Given the description of an element on the screen output the (x, y) to click on. 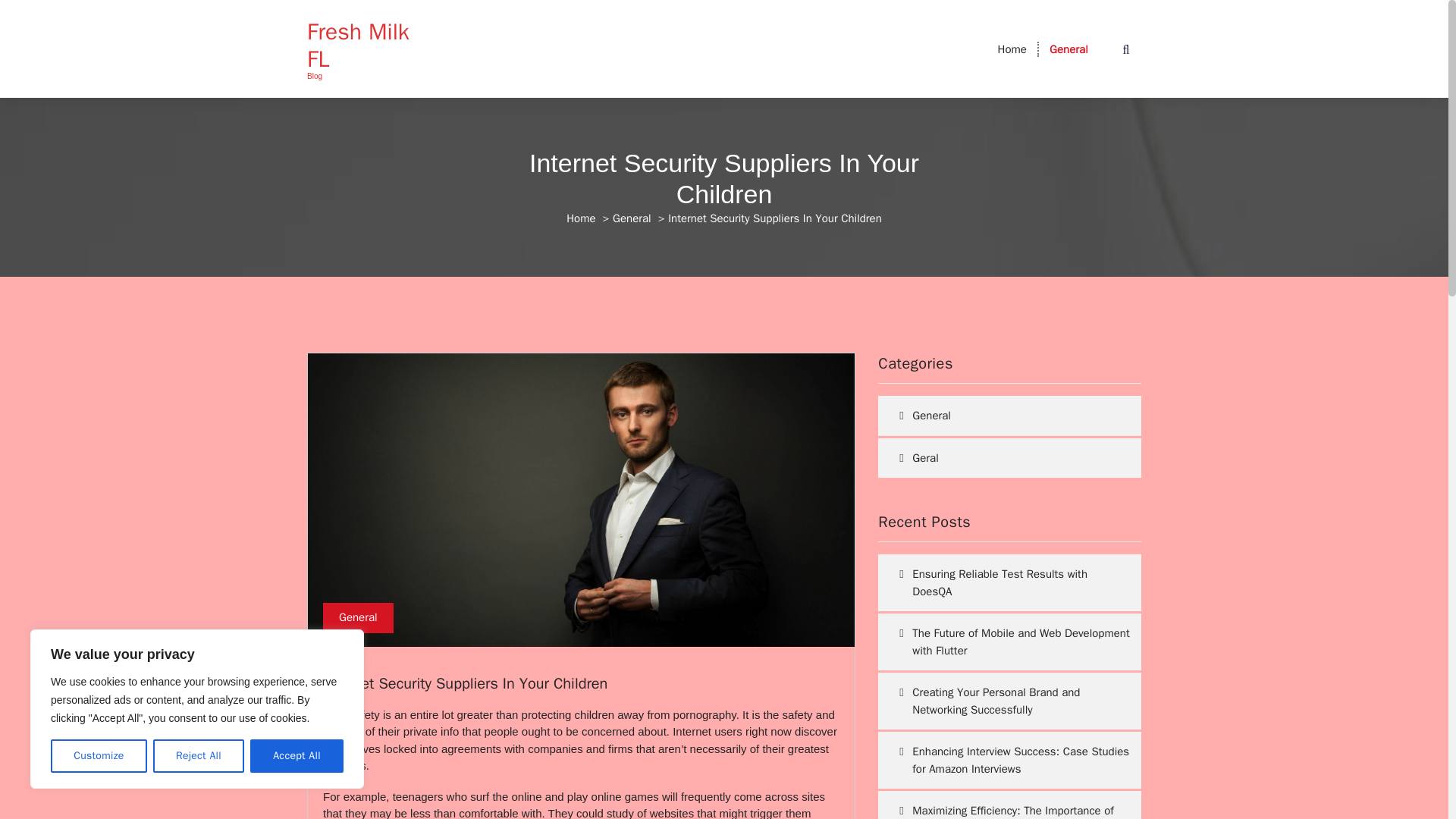
Home (1012, 49)
Reject All (198, 756)
Customize (98, 756)
Home (580, 218)
General (1068, 49)
Accept All (296, 756)
General (1068, 49)
Home (1012, 49)
General (631, 218)
General (358, 617)
